Given the description of an element on the screen output the (x, y) to click on. 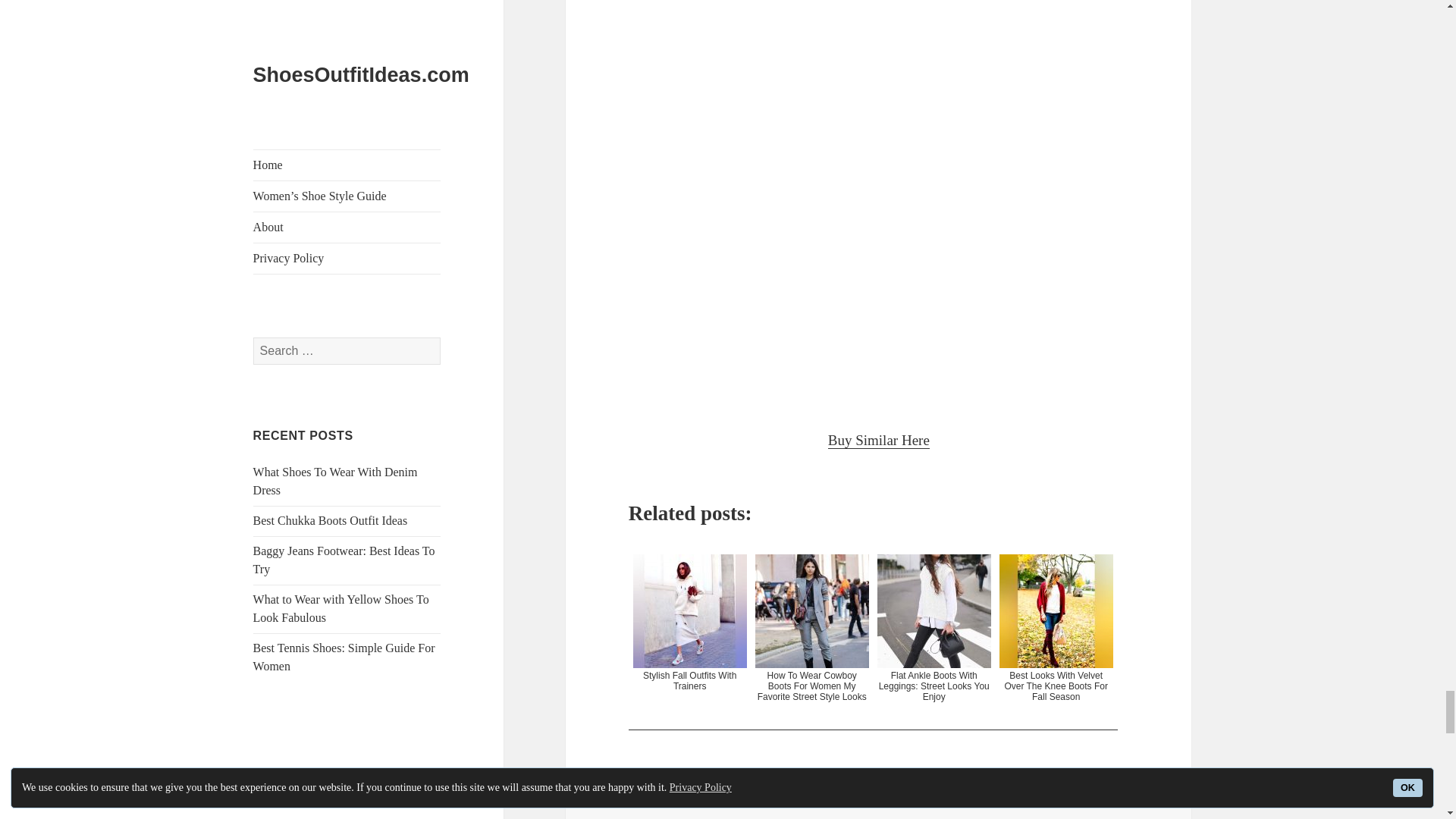
Buy Similar Here (879, 440)
